Given the description of an element on the screen output the (x, y) to click on. 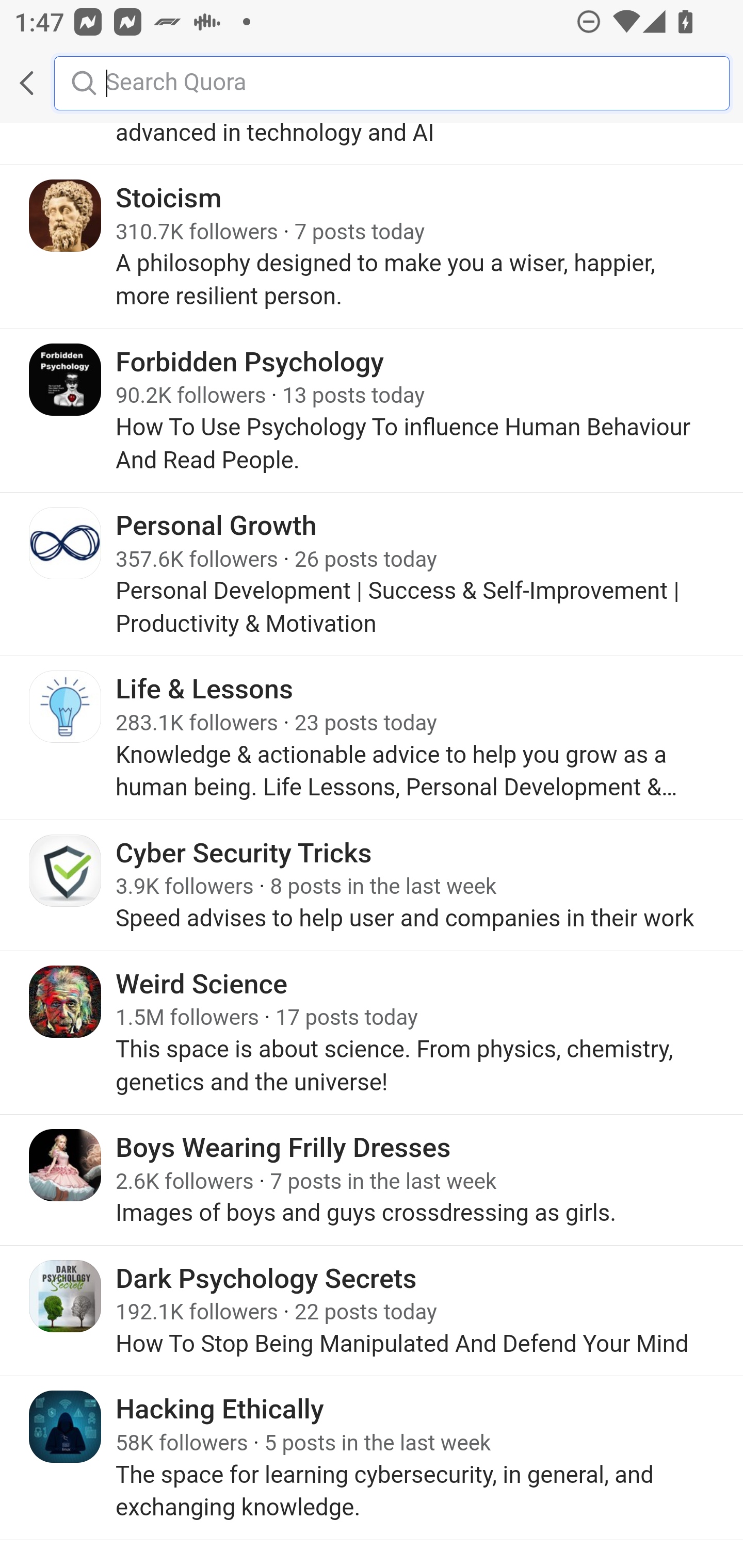
Me (64, 83)
Icon for Stoicism (65, 217)
Icon for Forbidden Psychology (65, 380)
Icon for Personal Growth (65, 543)
Icon for Life & Lessons (65, 707)
Icon for Cyber Security Tricks (65, 870)
Icon for Weird Science (65, 1002)
Icon for Boys Wearing Frilly Dresses (65, 1167)
Icon for Dark Psychology Secrets (65, 1297)
Icon for Hacking Ethically (65, 1429)
